Given the description of an element on the screen output the (x, y) to click on. 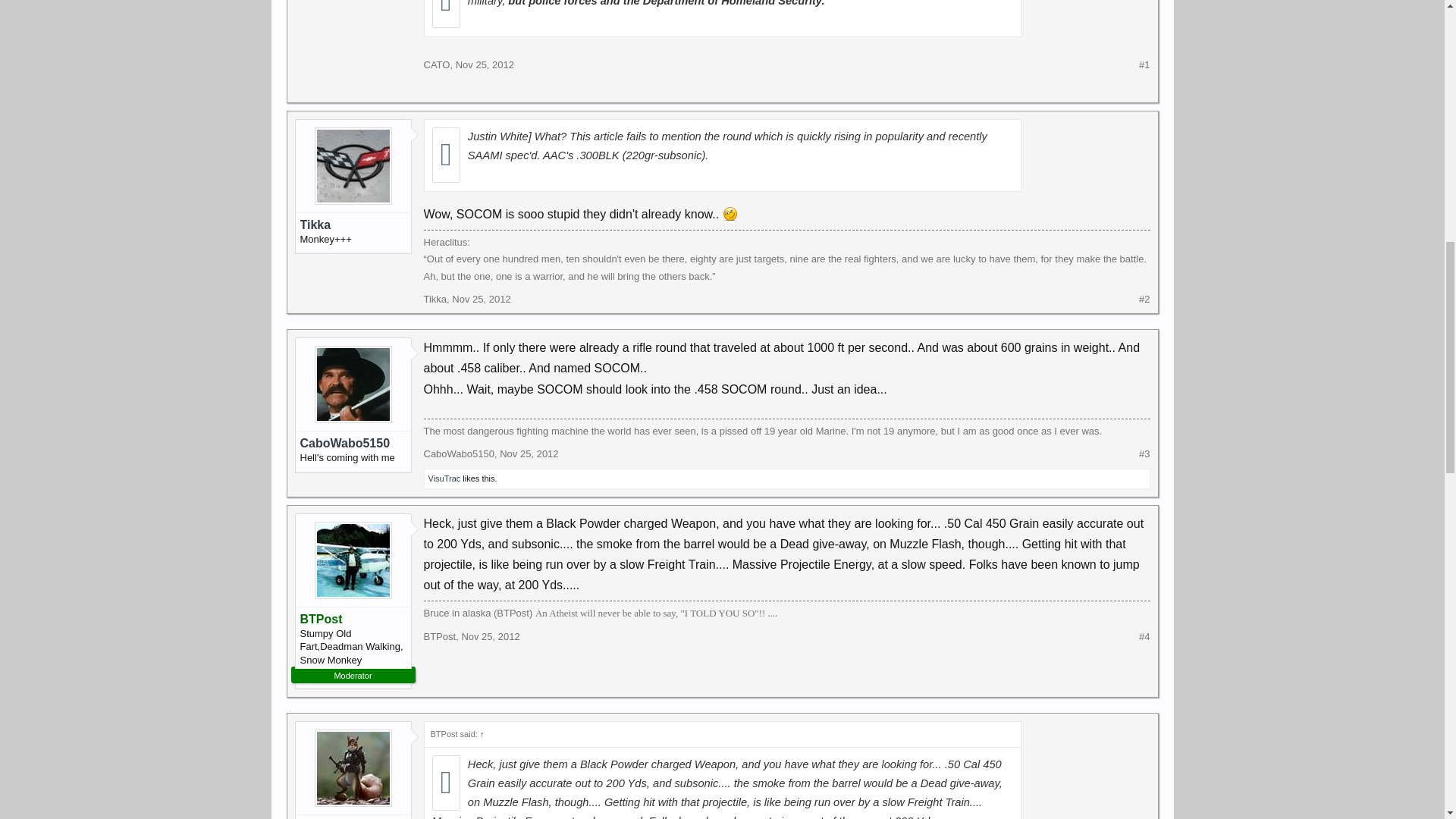
CATO (436, 64)
Tikka (434, 298)
Nov 25, 2012 (528, 453)
Tikka (352, 224)
Permalink (528, 453)
Nov 25, 2012 (484, 64)
CaboWabo5150 (458, 453)
BTPost (439, 636)
VisuTrac (444, 478)
Permalink (481, 298)
BTPost (352, 619)
Permalink (490, 636)
Permalink (484, 64)
CaboWabo5150 (352, 443)
Nov 25, 2012 (490, 636)
